Given the description of an element on the screen output the (x, y) to click on. 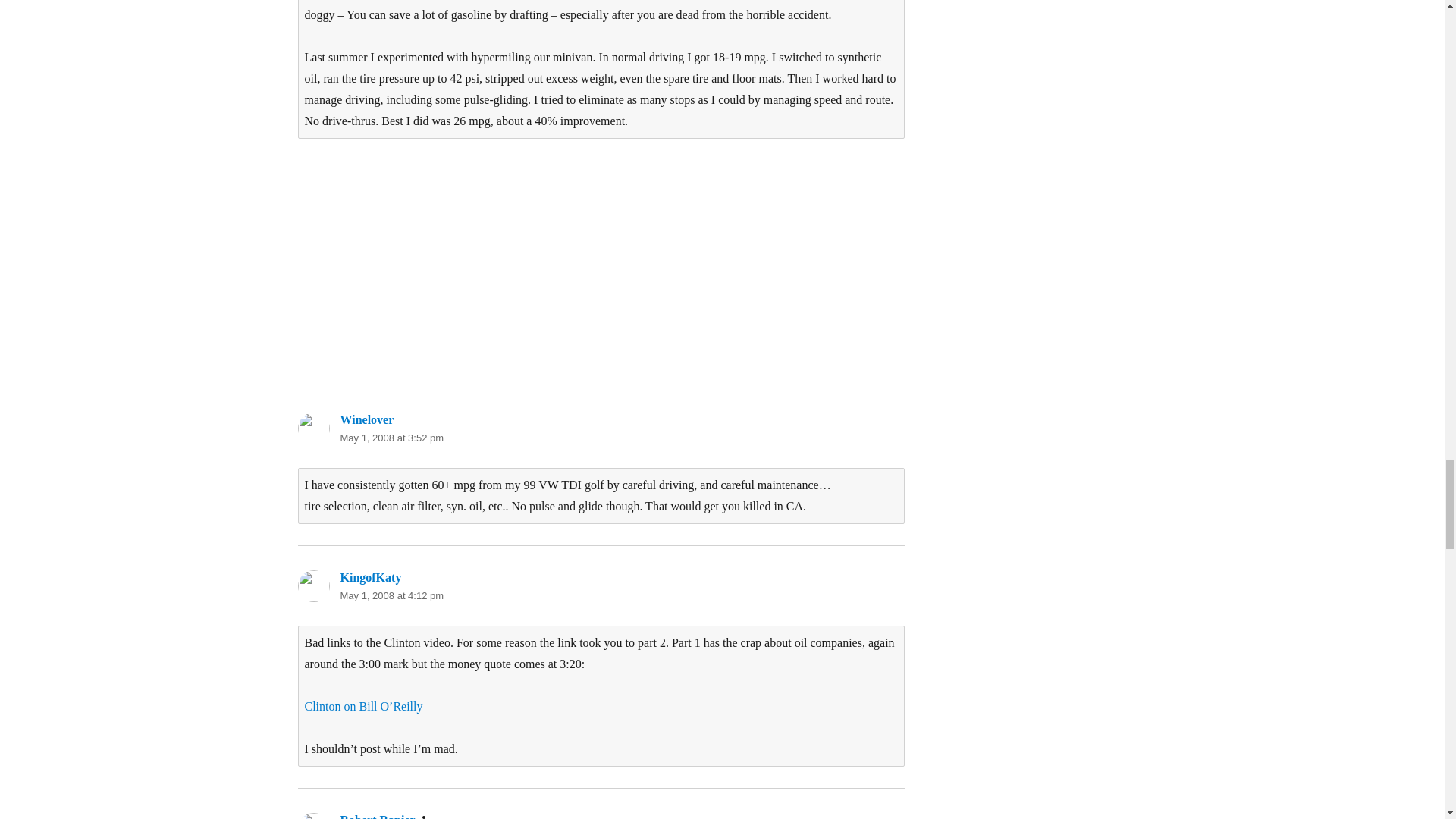
May 1, 2008 at 4:12 pm (391, 595)
May 1, 2008 at 3:52 pm (391, 437)
Winelover (366, 419)
Robert Rapier (376, 816)
KingofKaty (370, 576)
